Given the description of an element on the screen output the (x, y) to click on. 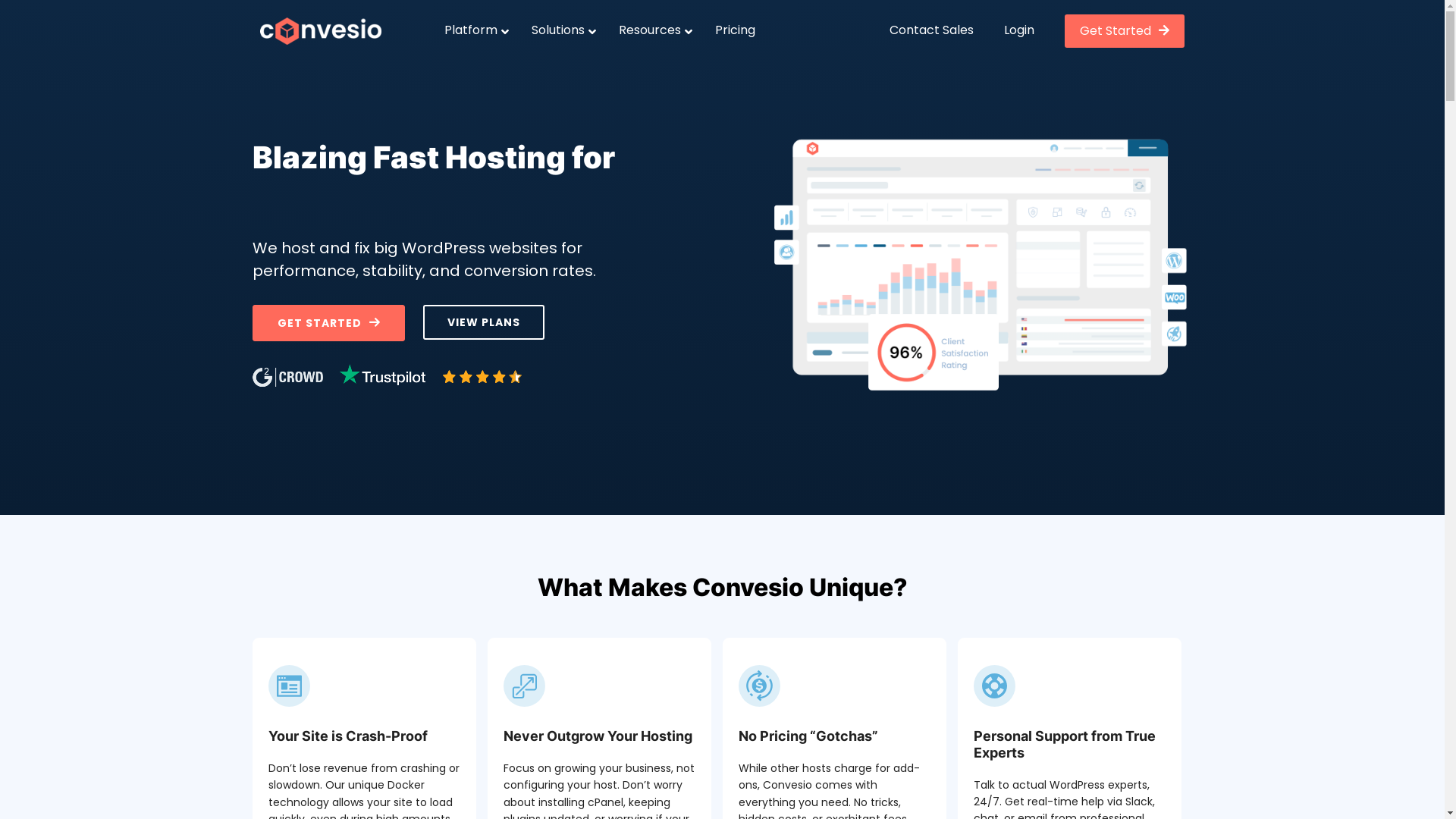
GET STARTED Element type: text (327, 322)
VIEW PLANS Element type: text (483, 321)
Login Element type: text (1026, 30)
Solutions Element type: text (559, 30)
Pricing Element type: text (734, 30)
Resources Element type: text (651, 30)
Contact Sales Element type: text (931, 30)
Get Started Element type: text (1124, 30)
Platform Element type: text (472, 30)
